Given the description of an element on the screen output the (x, y) to click on. 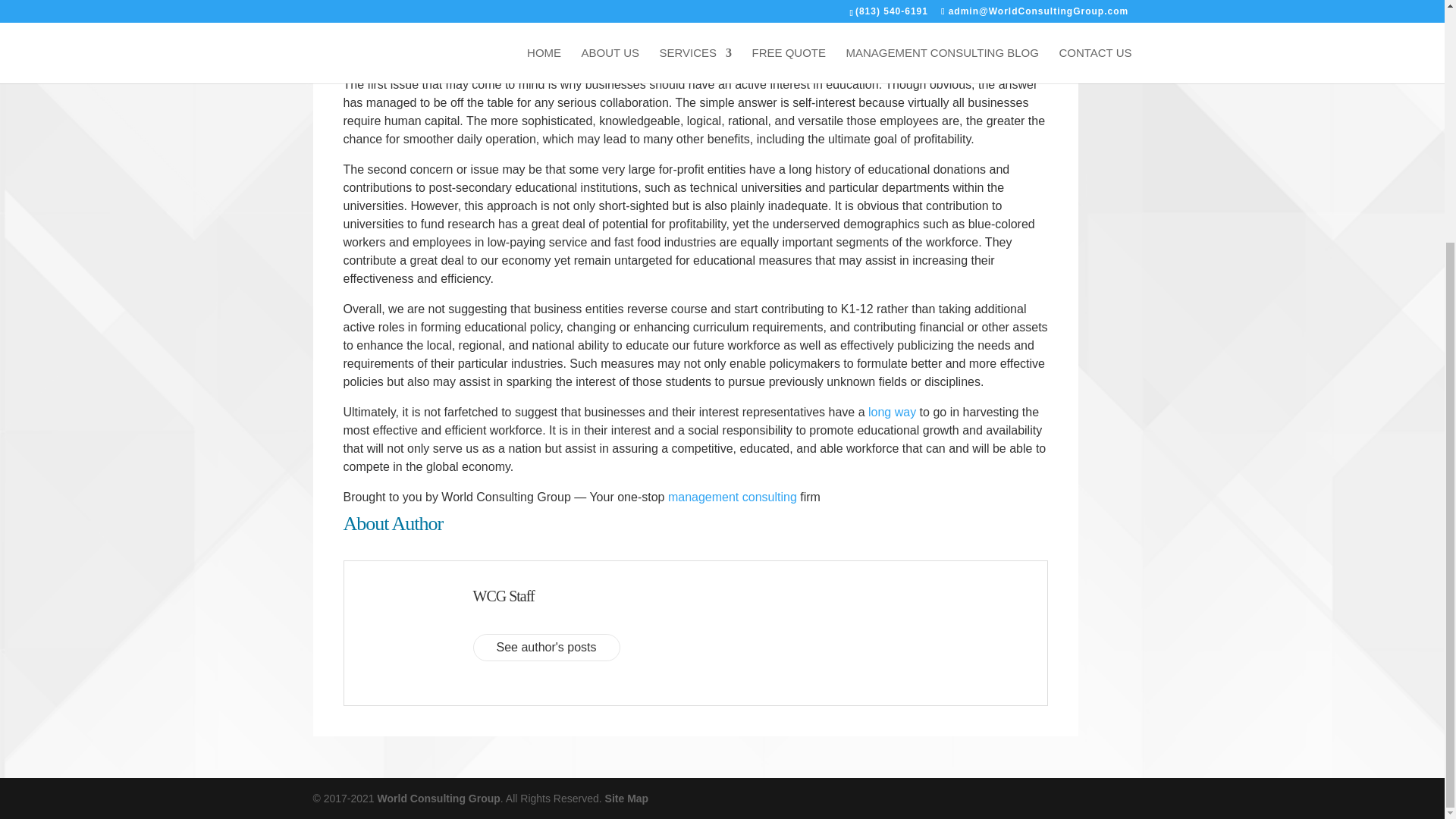
management consulting (732, 496)
long way (891, 411)
See author's posts (546, 646)
WCG Staff (503, 595)
